Given the description of an element on the screen output the (x, y) to click on. 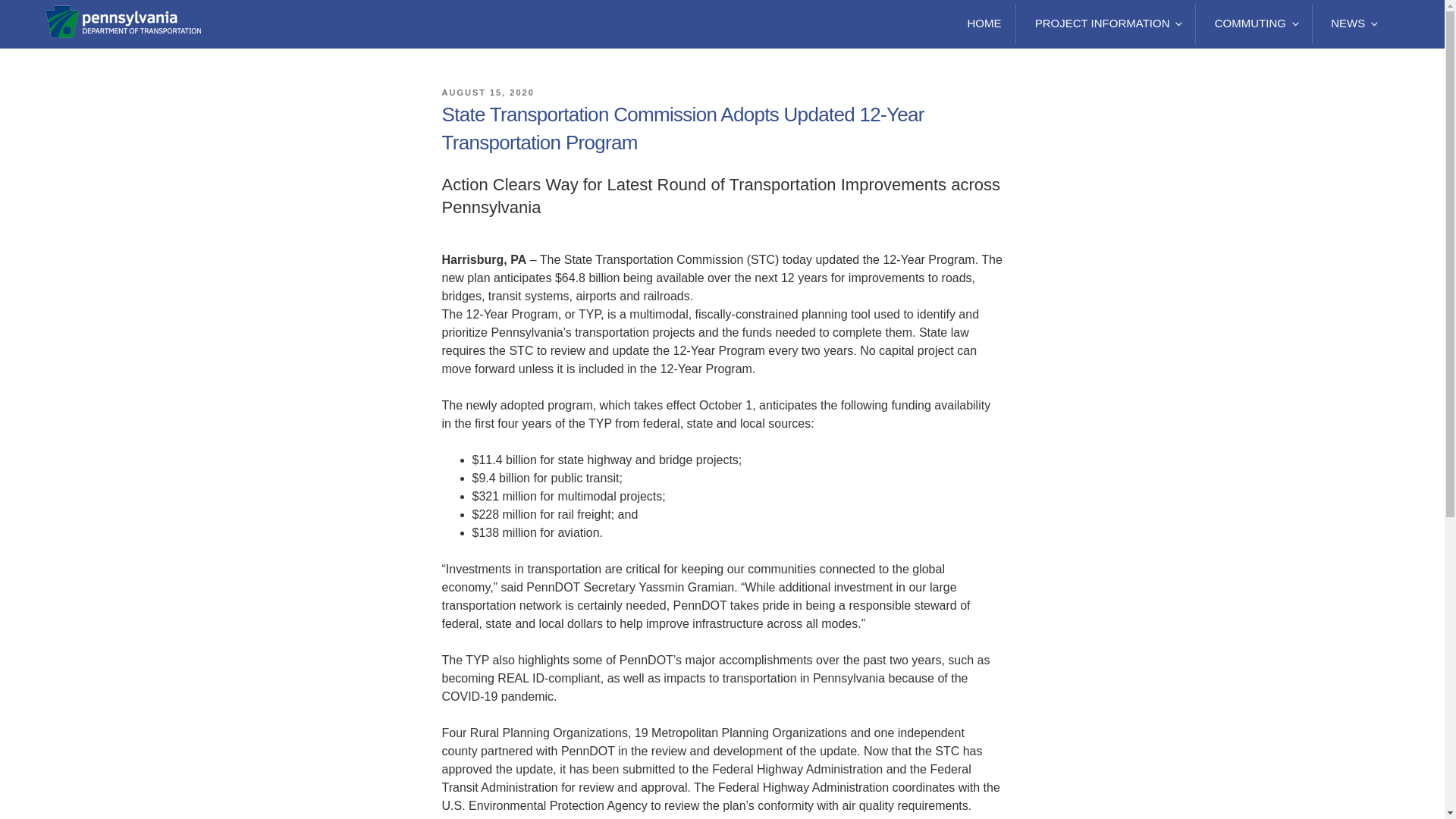
U.S. 1 IMPROVEMENTS PROJECT (169, 99)
AUGUST 15, 2020 (487, 92)
HOME (984, 24)
PROJECT INFORMATION (1107, 24)
COMMUTING (1255, 24)
NEWS (1353, 24)
